Given the description of an element on the screen output the (x, y) to click on. 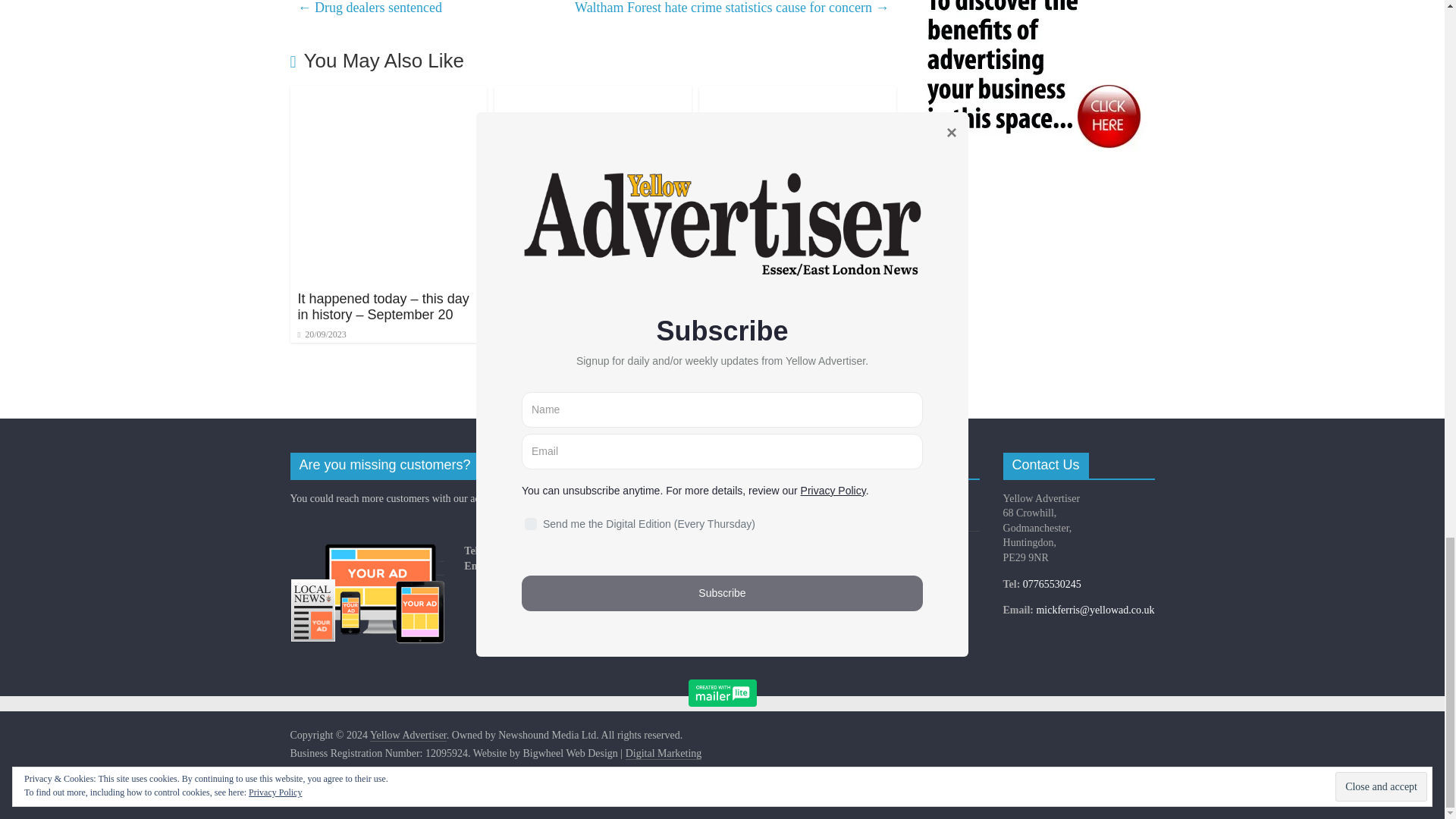
12:01 am (321, 334)
